Given the description of an element on the screen output the (x, y) to click on. 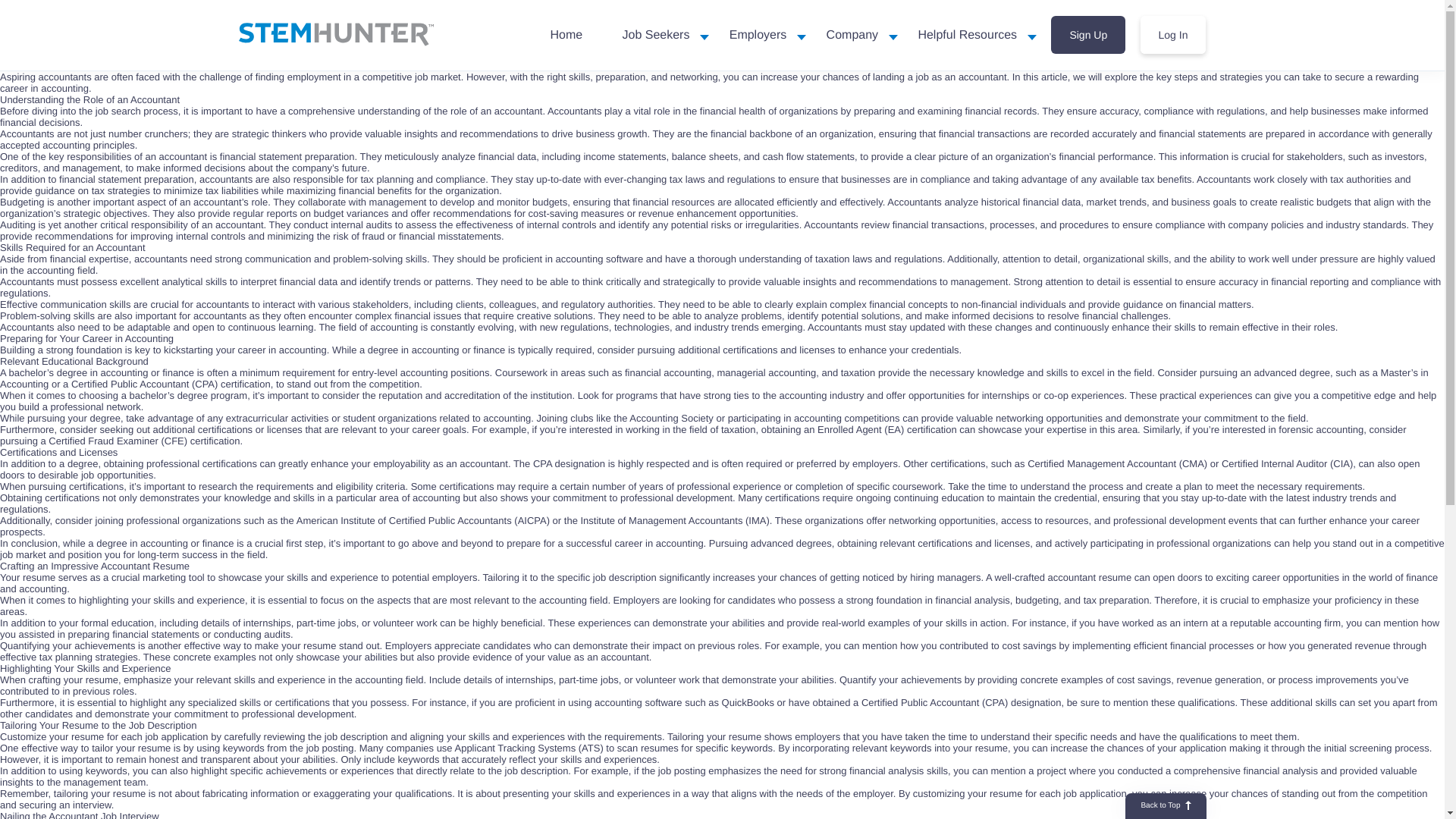
Job Seekers (654, 35)
financial statement preparation (287, 156)
Home (566, 35)
Log In (1173, 34)
strong communication and problem-solving skills (320, 258)
Company (852, 35)
job as an accountant (961, 76)
Sign Up (1088, 34)
Back to Home Page (335, 33)
Helpful Resources (967, 35)
